Given the description of an element on the screen output the (x, y) to click on. 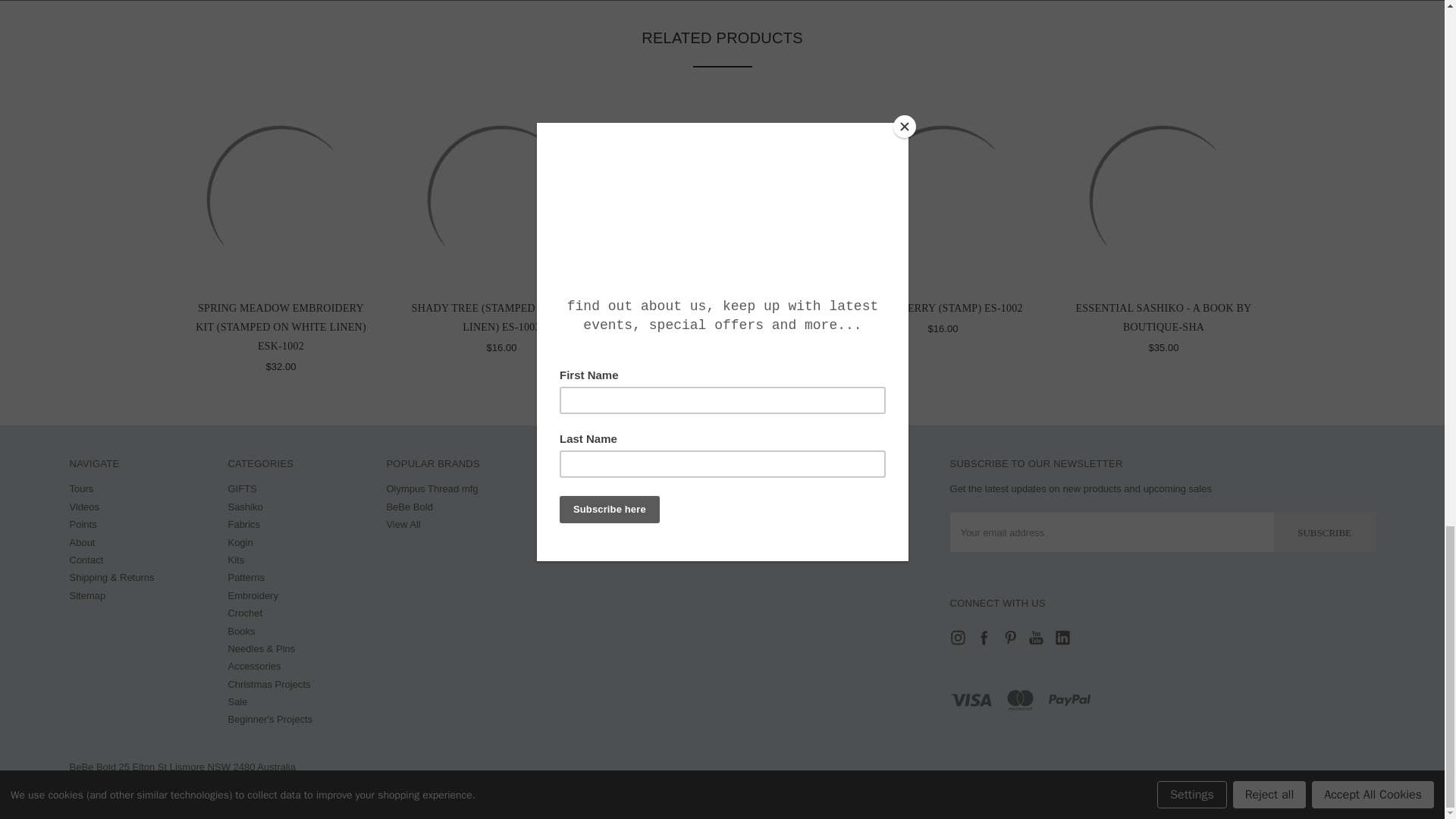
Spring Meadow completed embroidery project  (281, 199)
Stamped tree on linen with kogin threads (501, 199)
Subscribe (1324, 532)
Essential Sashiko - A book by Boutique-Sha (1164, 199)
Kogin Fine Linen Pack - Natural - KF-3500-1001 (722, 199)
